Given the description of an element on the screen output the (x, y) to click on. 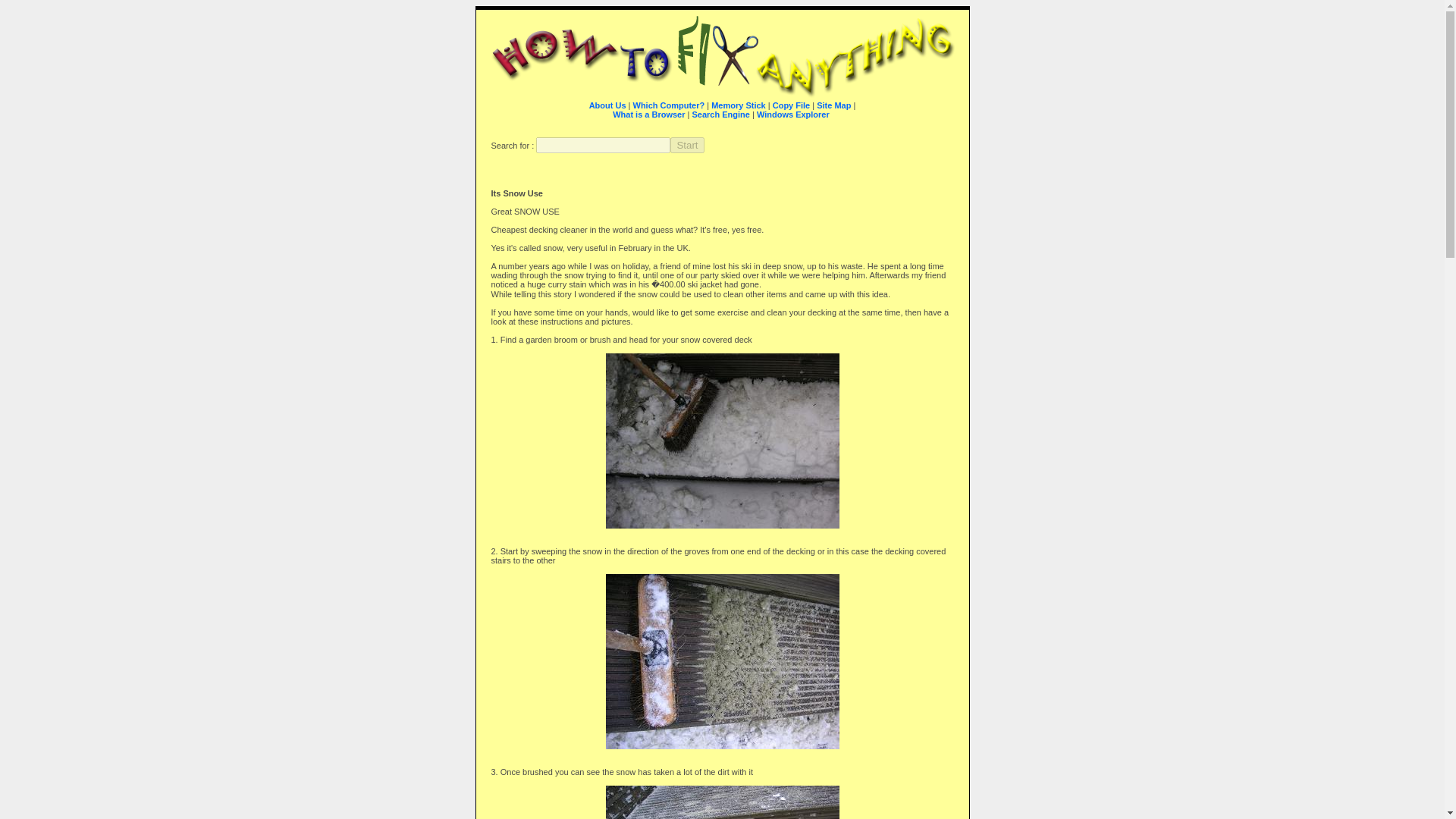
Windows Explorer (793, 113)
Memory Stick (738, 104)
Start (686, 145)
What is a browser? (734, 118)
Which Computer? (667, 104)
HowToFix website Information (607, 104)
Hints and Tips when buying a computer (667, 104)
How to use a memory stick (738, 104)
Site Map (833, 104)
About Us (607, 104)
List Problem Types (833, 104)
Copy File (791, 104)
What is a Browser (734, 118)
Search Engine (720, 113)
Start (686, 145)
